Given the description of an element on the screen output the (x, y) to click on. 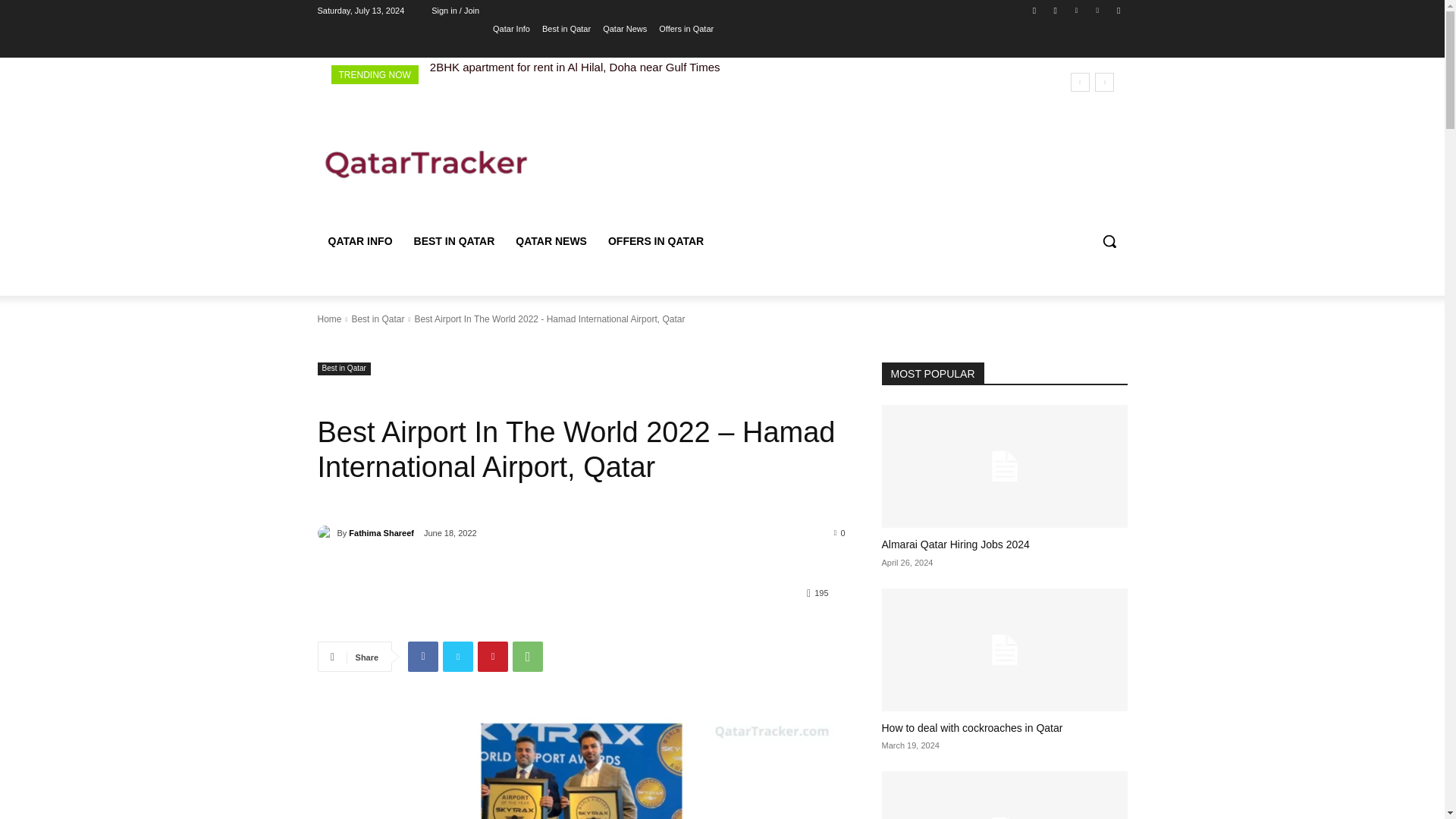
Twitter (457, 656)
2BHK apartment for rent in Al Hilal, Doha near Gulf Times (574, 66)
View all posts in Best in Qatar (377, 318)
2BHK apartment for rent in Al Hilal, Doha near Gulf Times (574, 66)
Vimeo (1097, 9)
Facebook (1034, 9)
Facebook (422, 656)
Qatar Info (511, 28)
Fathima Shareef (326, 532)
Qatar News (624, 28)
Youtube (1117, 9)
Best in Qatar (343, 368)
Home (328, 318)
OFFERS IN QATAR (655, 240)
Best in Qatar (377, 318)
